Given the description of an element on the screen output the (x, y) to click on. 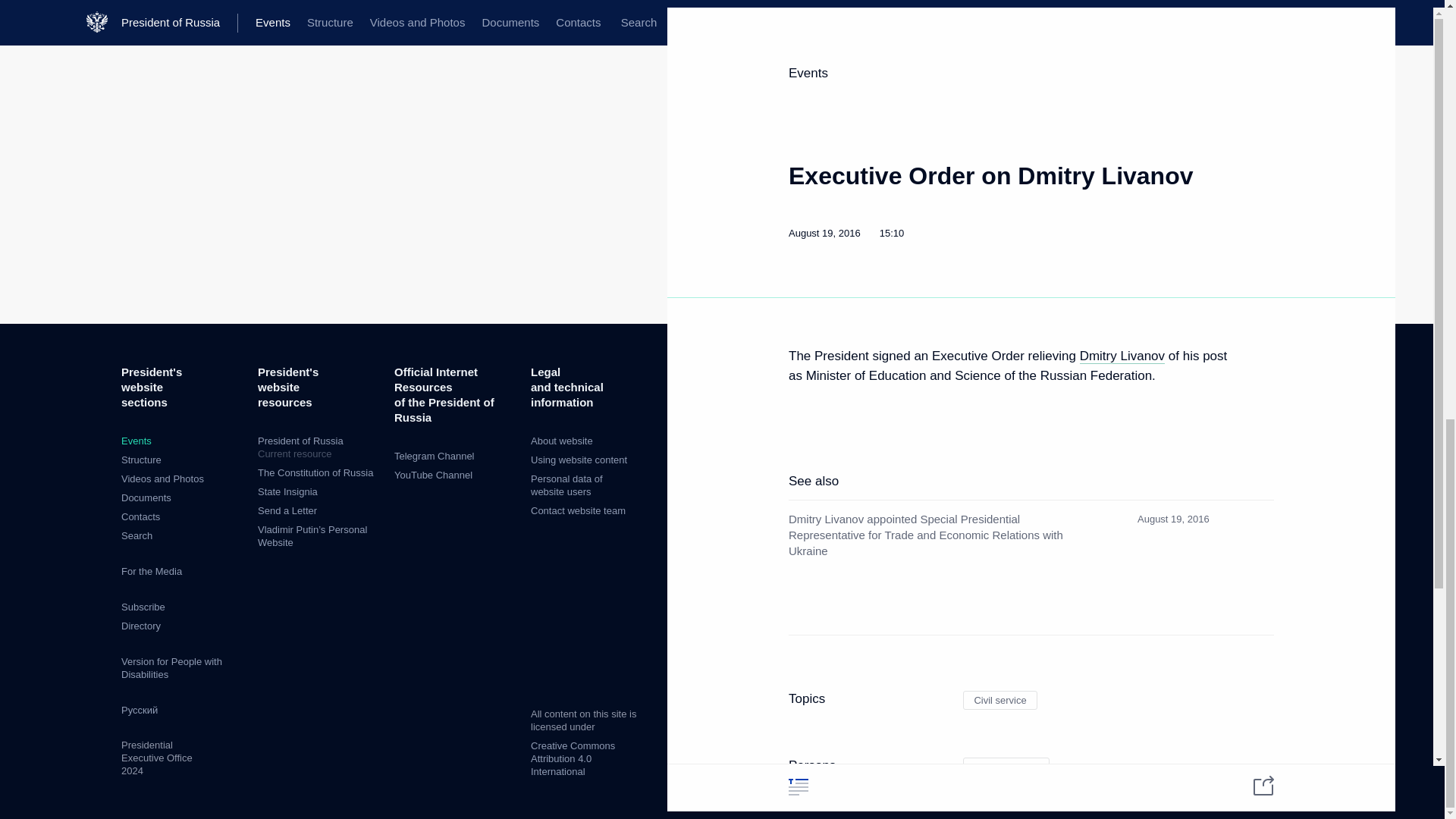
Send a Letter (287, 510)
Version for People with Disabilities (171, 668)
State Insignia (287, 491)
YouTube Channel (432, 474)
Structure (140, 460)
Subscribe (142, 606)
Search (136, 535)
Events (135, 440)
Telegram Channel (434, 455)
About website (561, 440)
